Given the description of an element on the screen output the (x, y) to click on. 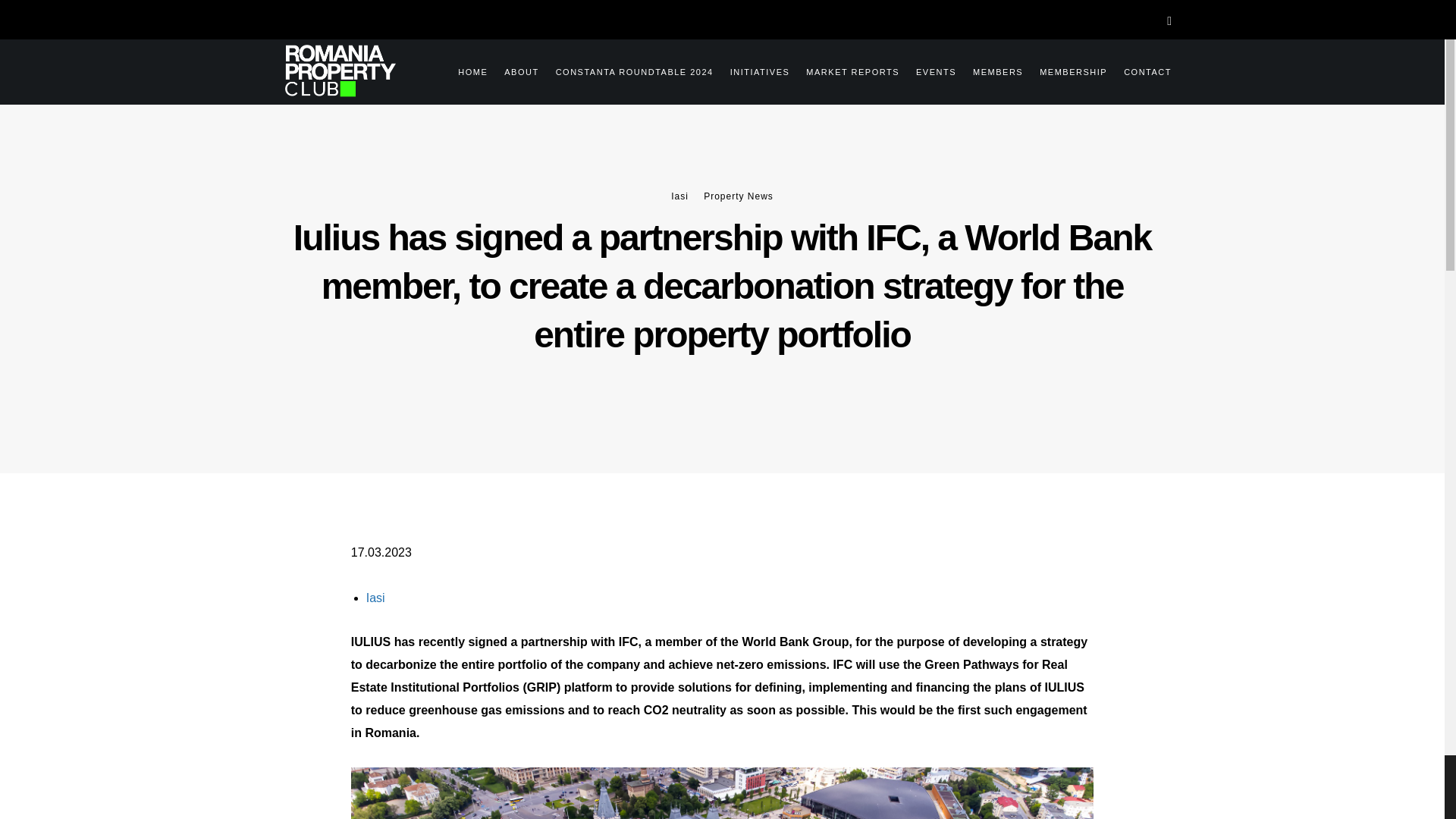
Iasi (375, 597)
CONSTANTA ROUNDTABLE 2024 (625, 70)
CONTACT (1139, 70)
Iasi (679, 195)
Property News (738, 195)
MARKET REPORTS (844, 70)
INITIATIVES (751, 70)
MEMBERS (989, 70)
MEMBERSHIP (1064, 70)
